Given the description of an element on the screen output the (x, y) to click on. 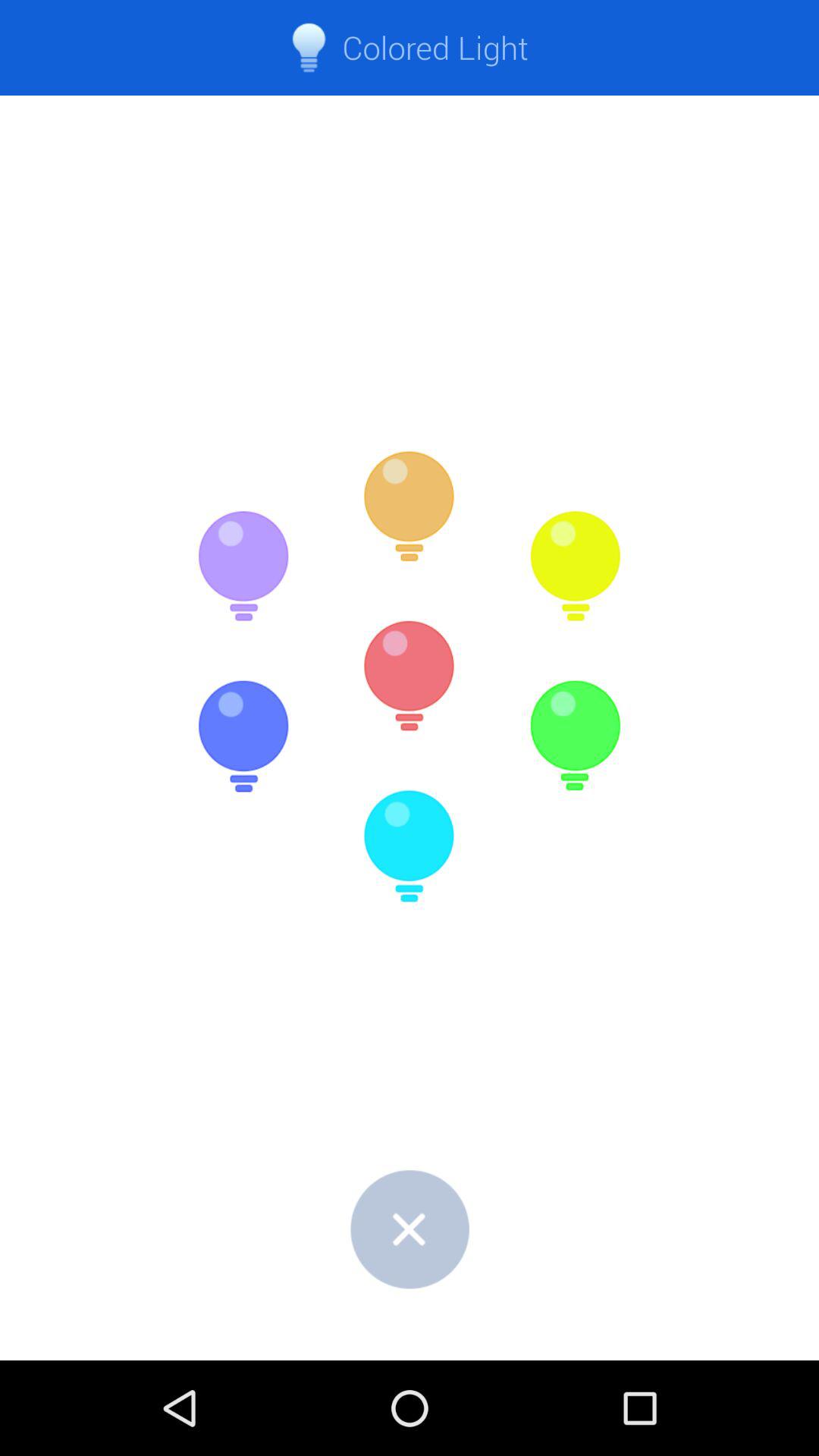
tap the item below colored light (574, 566)
